Given the description of an element on the screen output the (x, y) to click on. 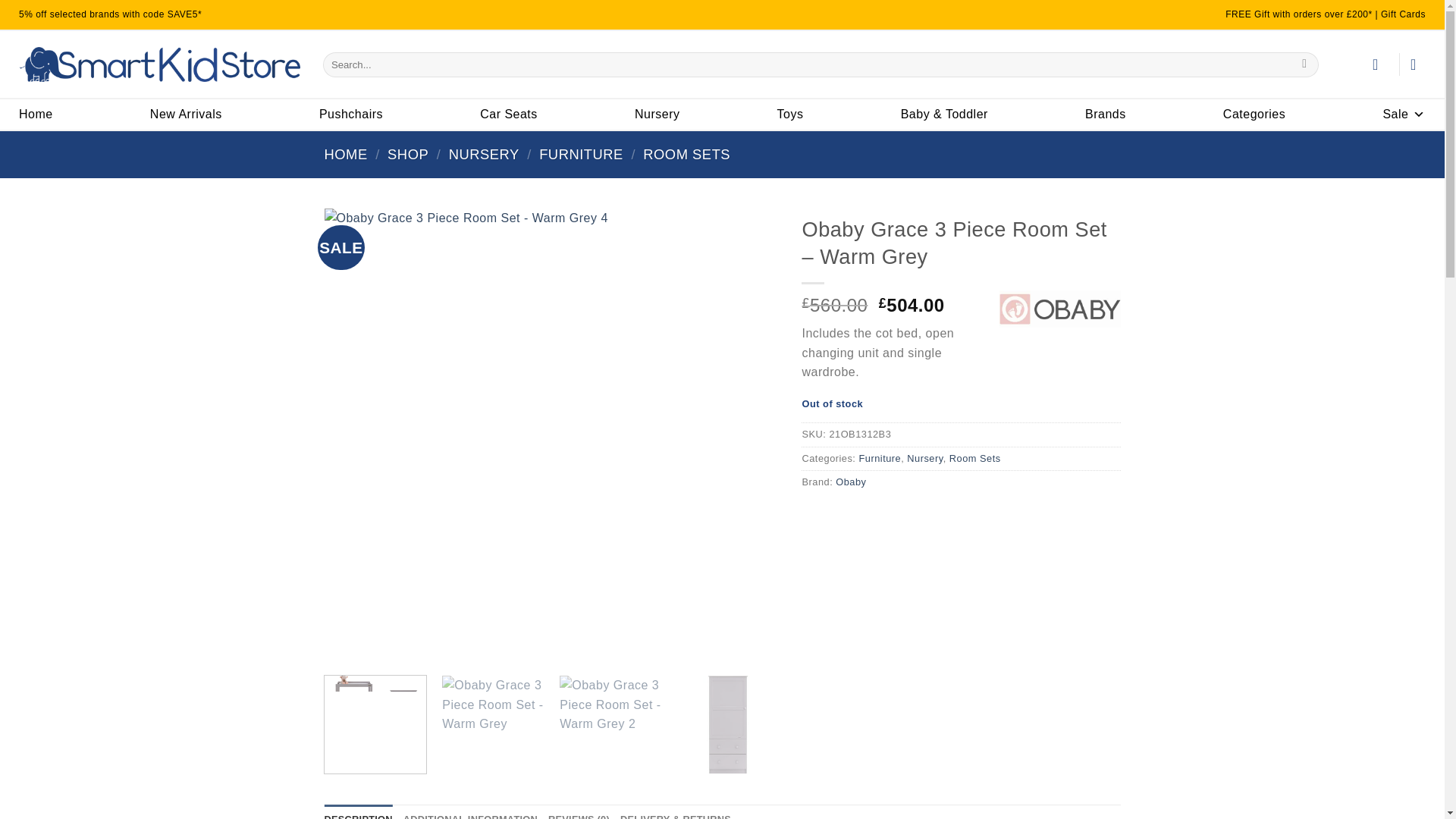
Share on Facebook (924, 516)
Search (1304, 63)
Zoom (347, 641)
New Arrivals (185, 114)
Pin on Pinterest (842, 516)
Share on LinkedIn (815, 516)
Share on Twitter (897, 516)
Email to a Friend (869, 516)
Home (35, 114)
